Given the description of an element on the screen output the (x, y) to click on. 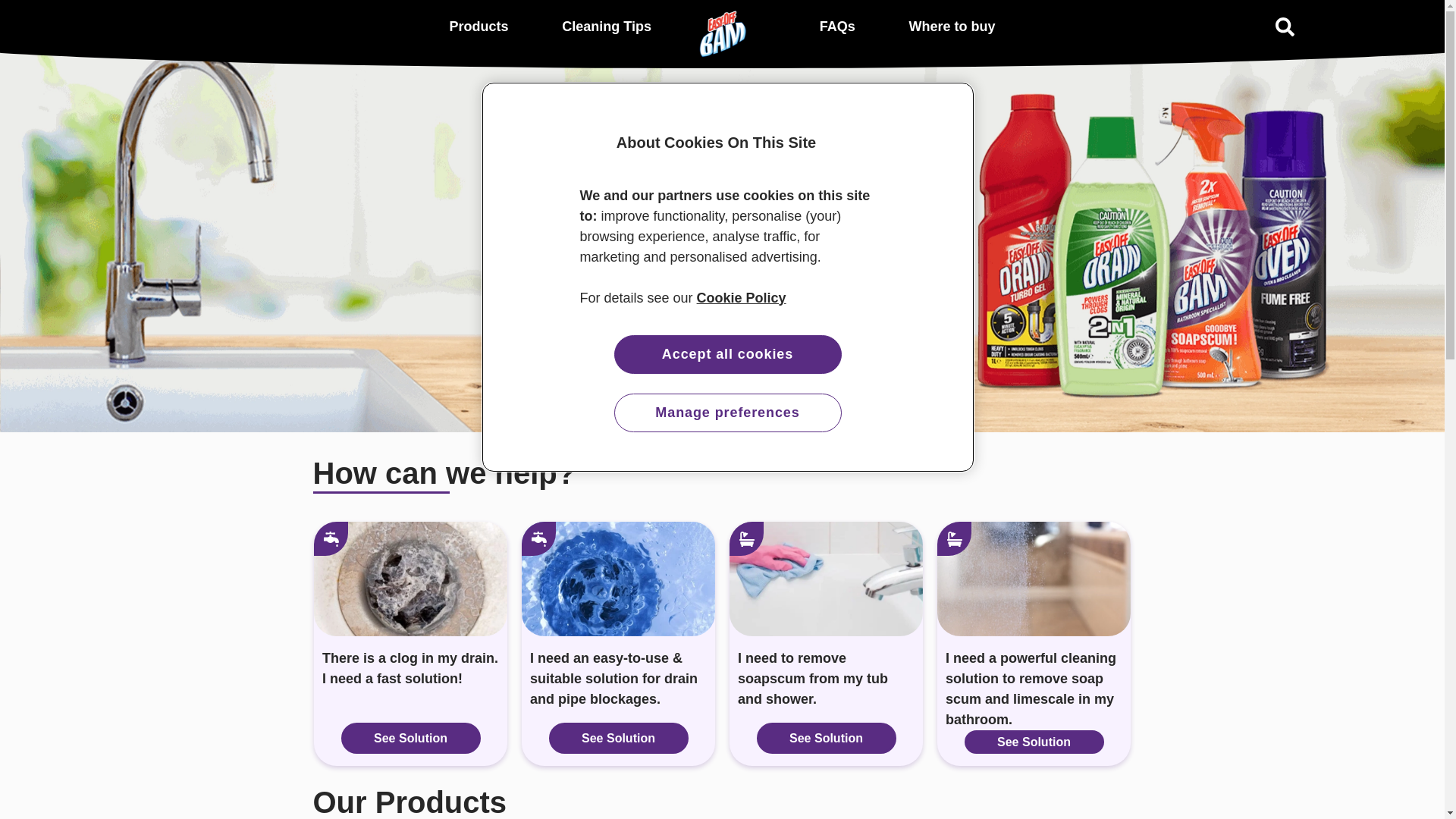
See Solution Element type: text (618, 737)
Cookie Policy Element type: text (741, 296)
See Solution Element type: text (826, 737)
Manage preferences Element type: text (727, 412)
Accept all cookies Element type: text (727, 354)
DISCOVER OUR PRODUCTS Element type: text (722, 285)
See Solution Element type: text (1034, 741)
See Solution Element type: text (410, 737)
Cleaning Tips Element type: text (606, 25)
Where to buy Element type: text (951, 25)
Products Element type: text (478, 25)
FAQs Element type: text (837, 25)
